Given the description of an element on the screen output the (x, y) to click on. 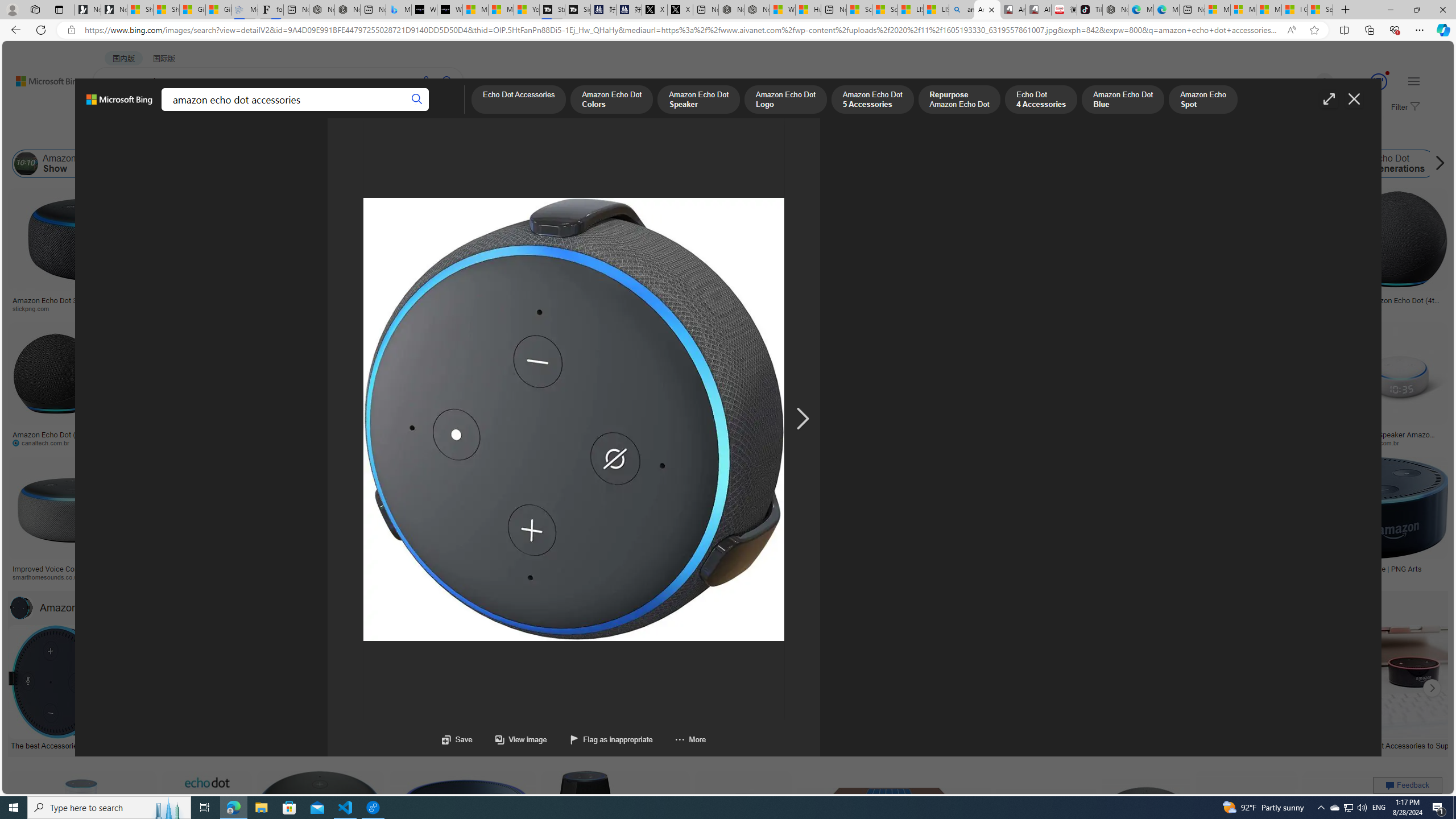
Amazon Echo Dot with Clock (447, 163)
tpsearchtool.com (1257, 308)
TikTok (1089, 9)
Back to Bing search (41, 78)
stickpng.com (677, 308)
Flag as inappropriate (599, 739)
IMAGES (156, 111)
Save (457, 739)
